Given the description of an element on the screen output the (x, y) to click on. 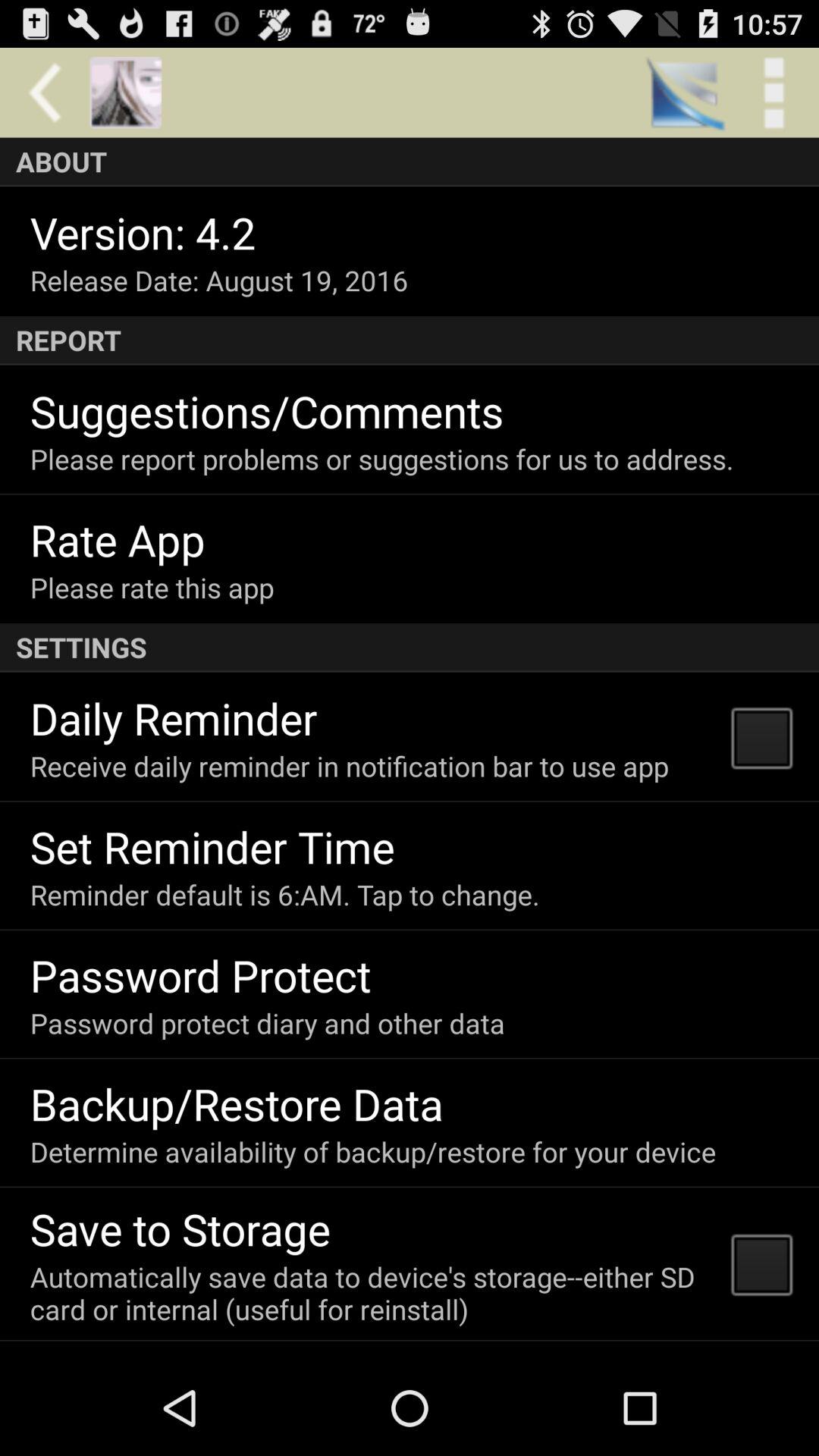
turn off item below the backup/restore data (373, 1151)
